Given the description of an element on the screen output the (x, y) to click on. 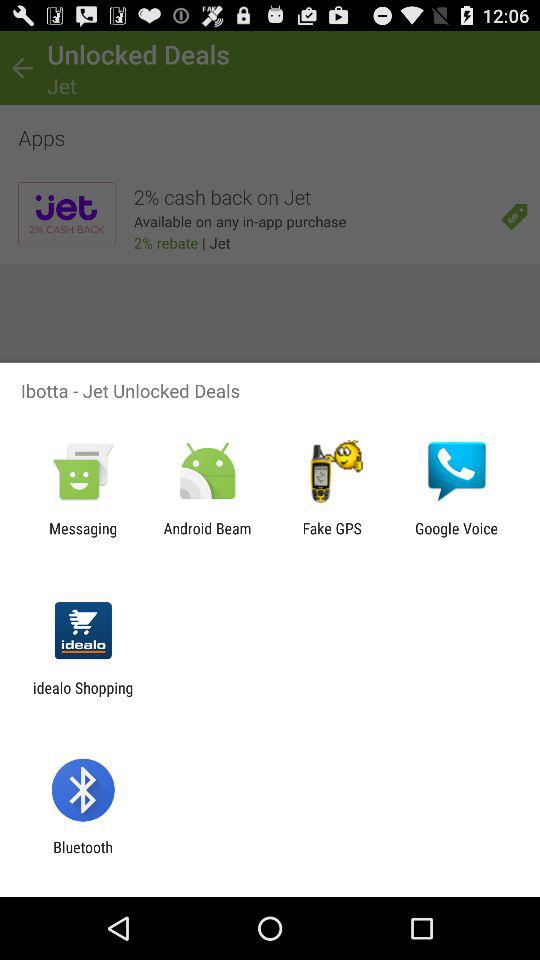
press the app next to android beam item (83, 537)
